Given the description of an element on the screen output the (x, y) to click on. 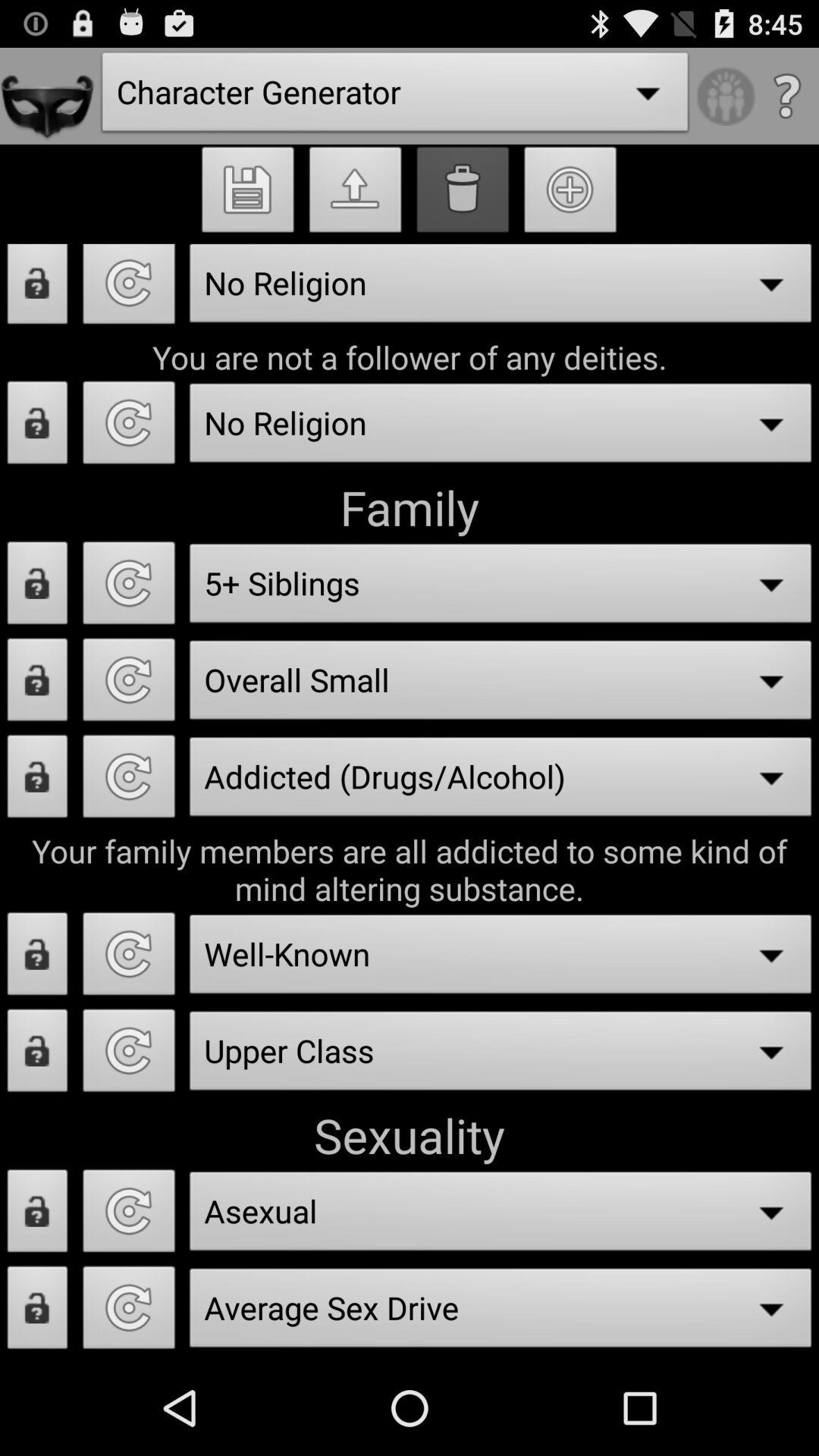
refresh the option (129, 958)
